Given the description of an element on the screen output the (x, y) to click on. 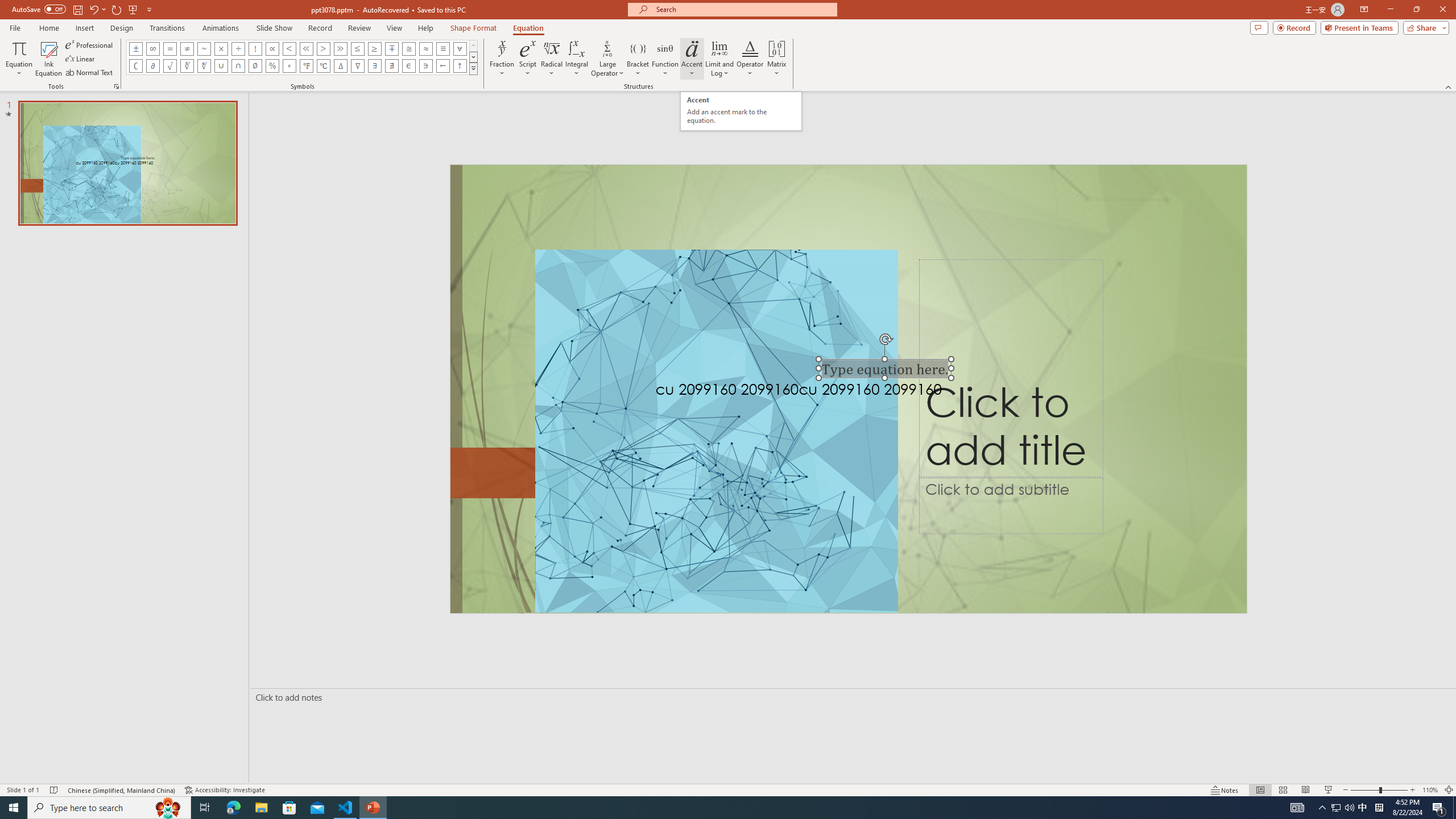
Equation Symbol Contains as Member (425, 65)
Equation Symbol Degrees (289, 65)
Equation Options... (116, 85)
Integral (576, 58)
Equation Symbol Equal (170, 48)
Equation Symbol Factorial (255, 48)
Equation Symbol Empty Set (255, 65)
Equation Symbol Greater Than or Equal To (374, 48)
